Given the description of an element on the screen output the (x, y) to click on. 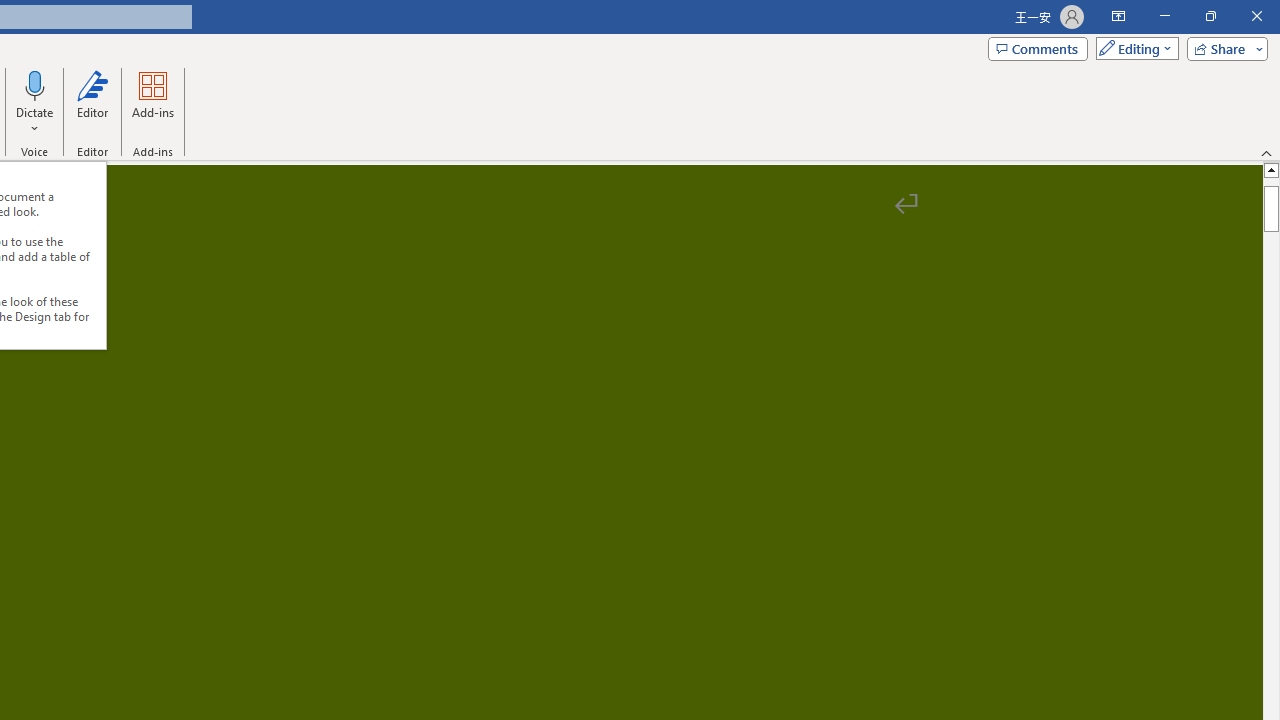
Dictate (35, 84)
Ribbon Display Options (1118, 16)
Close (1256, 16)
Editor (92, 102)
Comments (1038, 48)
Restore Down (1210, 16)
Collapse the Ribbon (1267, 152)
Dictate (35, 102)
More Options (35, 121)
Mode (1133, 47)
Page up (1271, 181)
Share (1223, 48)
Line up (1271, 169)
